Given the description of an element on the screen output the (x, y) to click on. 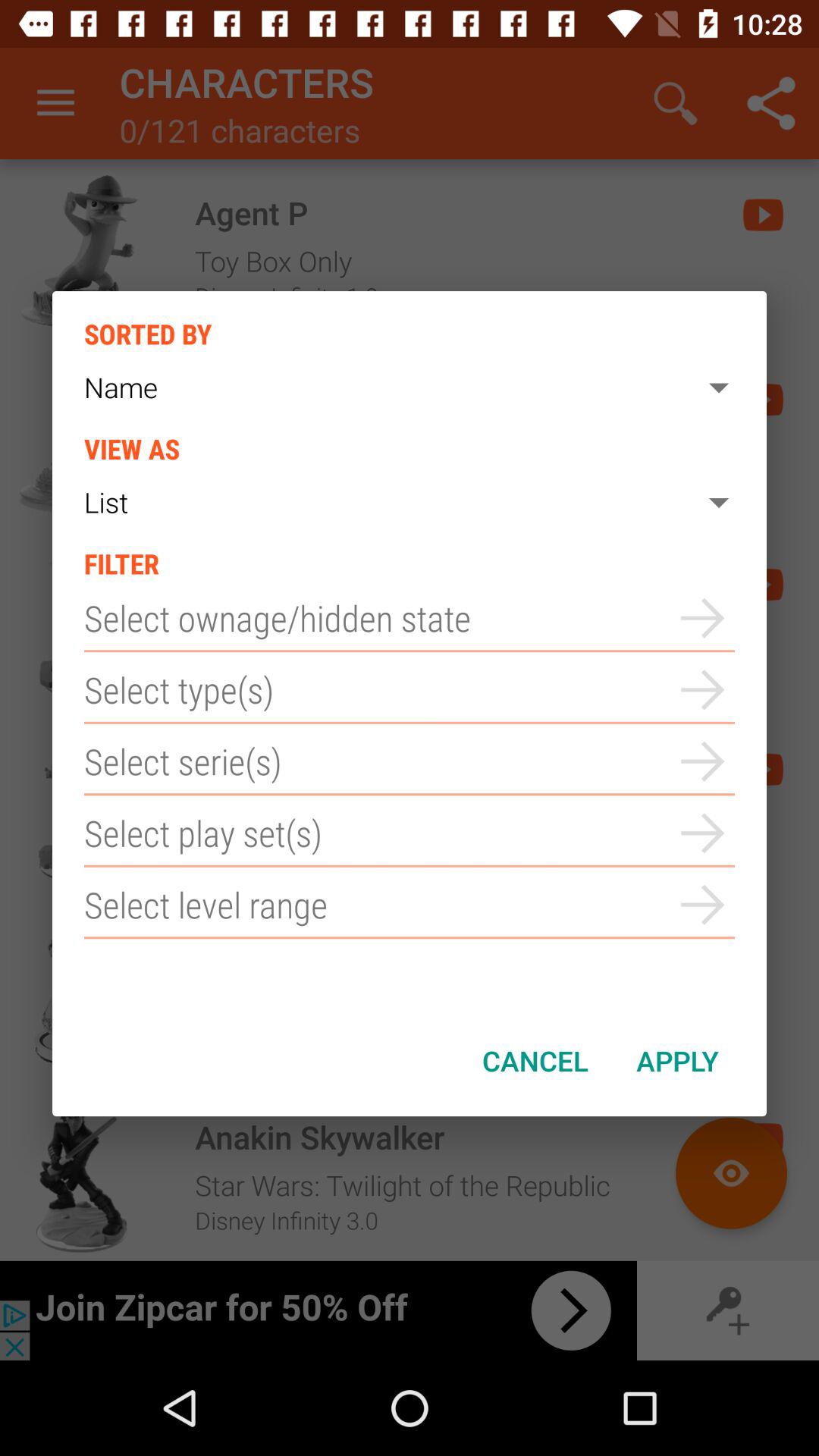
select types (409, 689)
